Given the description of an element on the screen output the (x, y) to click on. 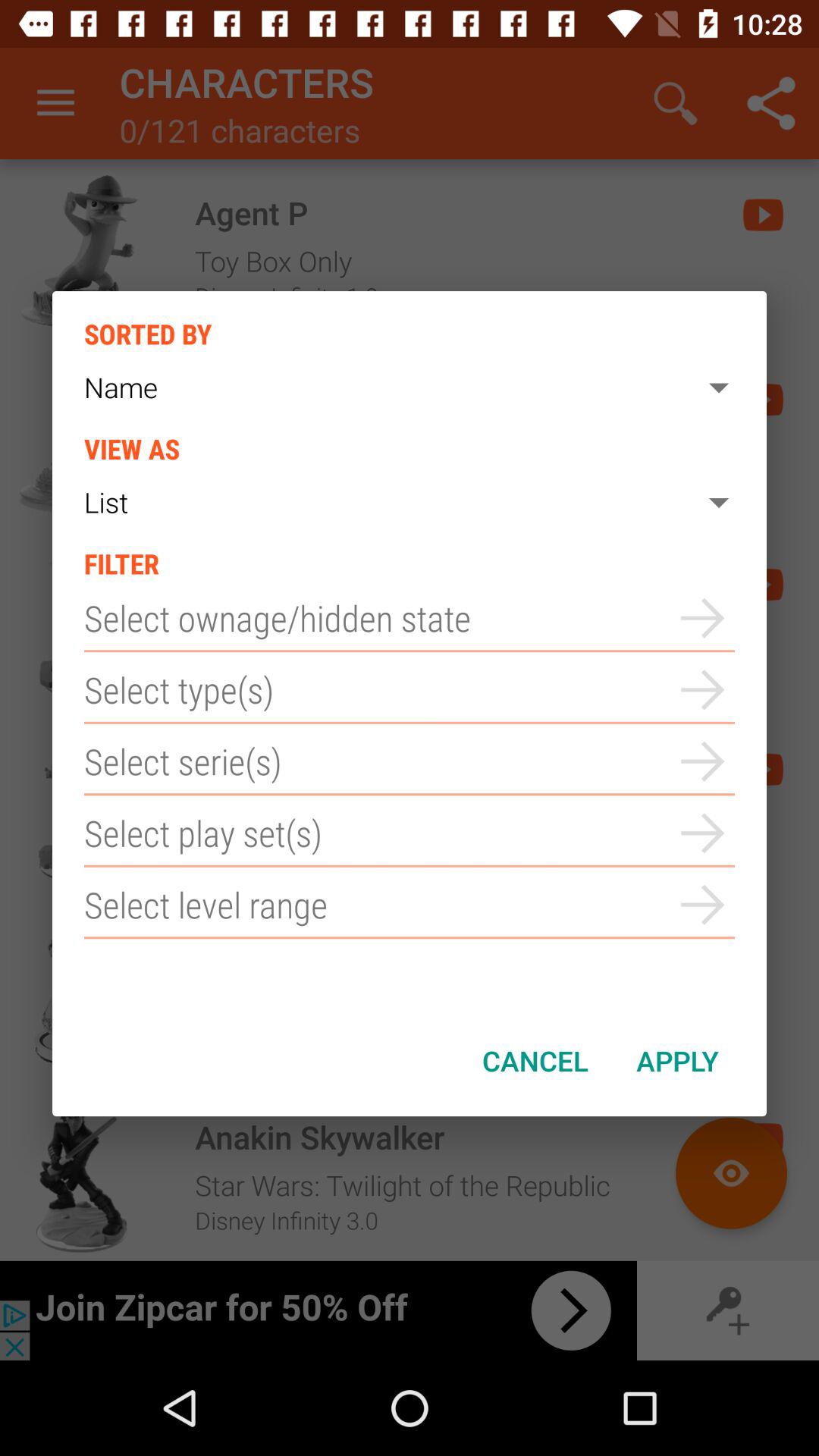
select types (409, 689)
